Given the description of an element on the screen output the (x, y) to click on. 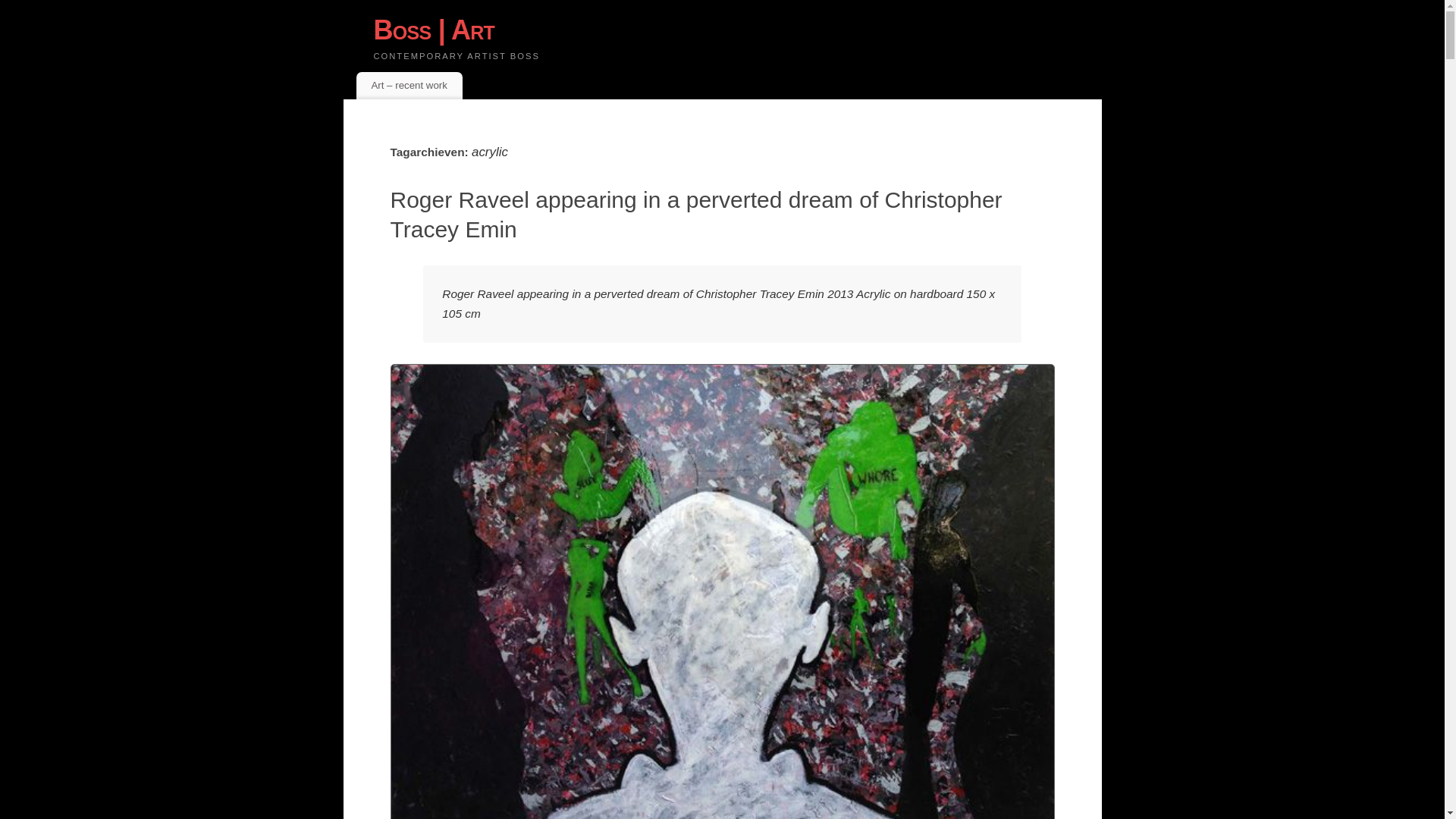
Boss | Art Element type: text (737, 30)
